Given the description of an element on the screen output the (x, y) to click on. 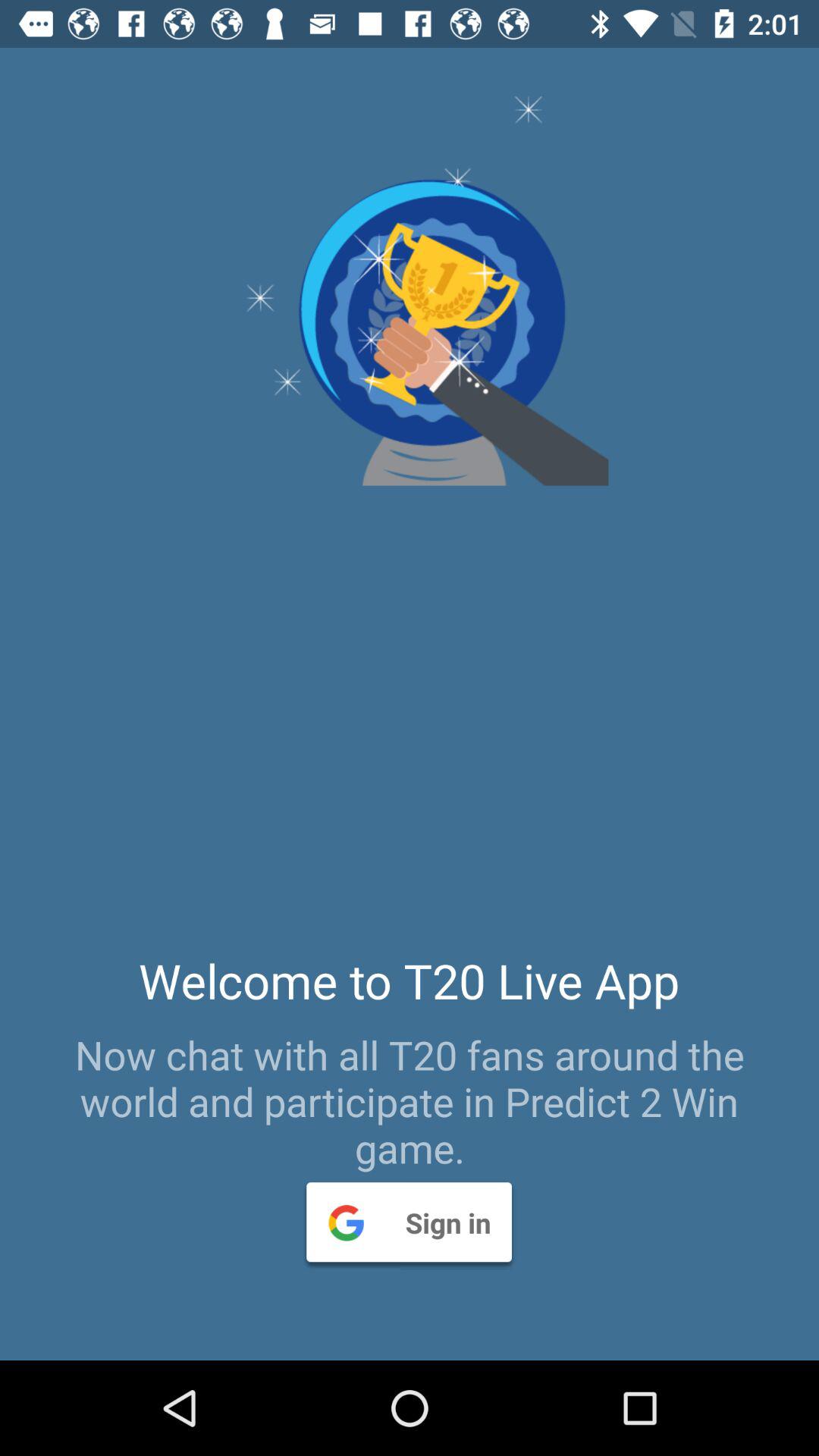
swipe to the sign in item (408, 1222)
